Given the description of an element on the screen output the (x, y) to click on. 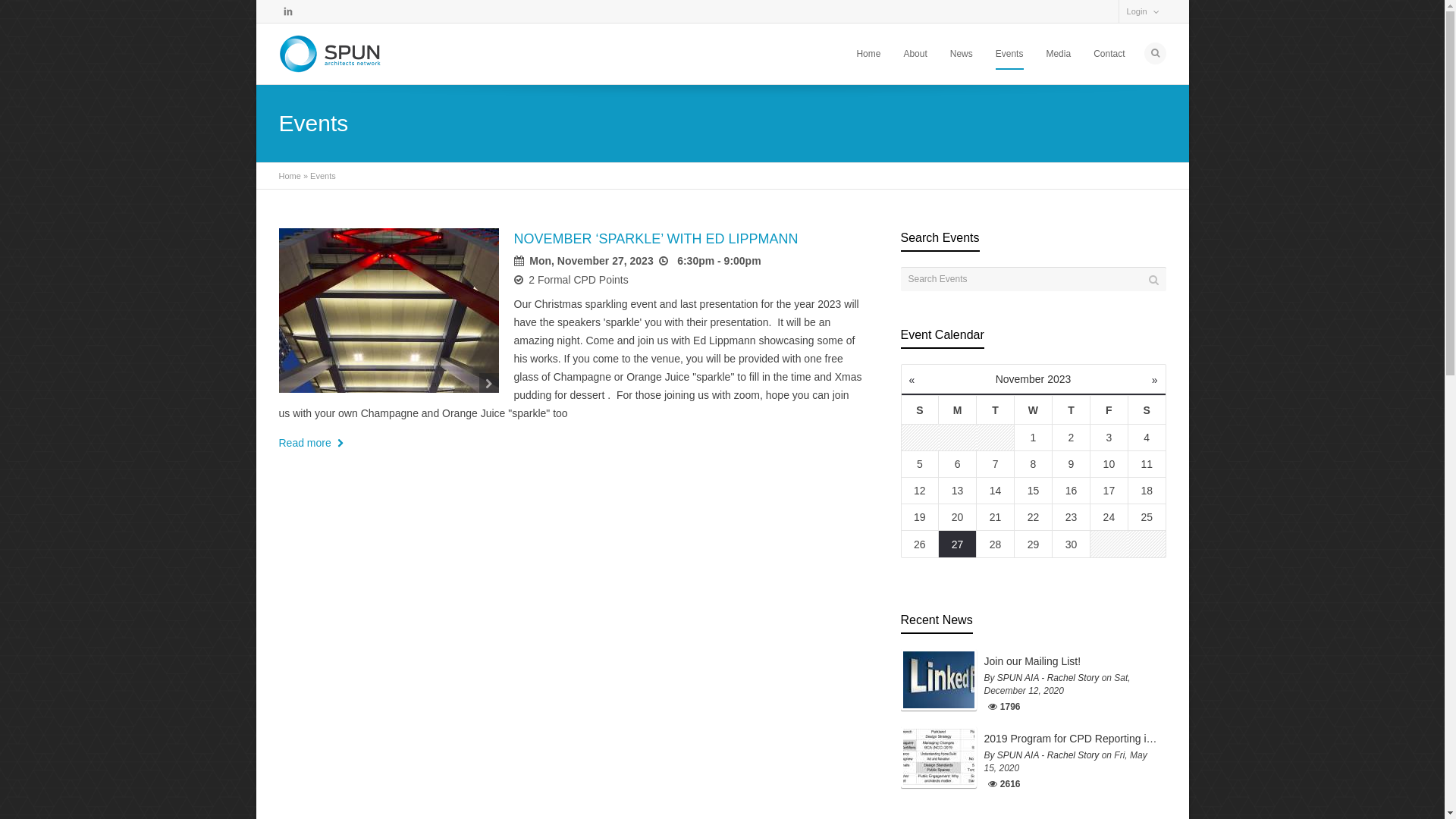
Join our Mailing List! Element type: text (1071, 661)
About Element type: text (914, 53)
Events Element type: text (1009, 53)
SPUN AIA - Rachel Story Element type: text (1047, 677)
Contact Element type: text (1108, 53)
Home Element type: text (290, 175)
Login Element type: text (1136, 11)
SPUN AIA - Rachel Story Element type: text (1047, 754)
27 Element type: text (956, 544)
Media Element type: text (1057, 53)
Home Element type: text (868, 53)
November 2023 Element type: text (1033, 379)
Read more > Element type: text (313, 442)
2019 Program for CPD Reporting in 2020 Element type: text (1071, 738)
News Element type: text (961, 53)
Linkedin Element type: text (288, 11)
